Given the description of an element on the screen output the (x, y) to click on. 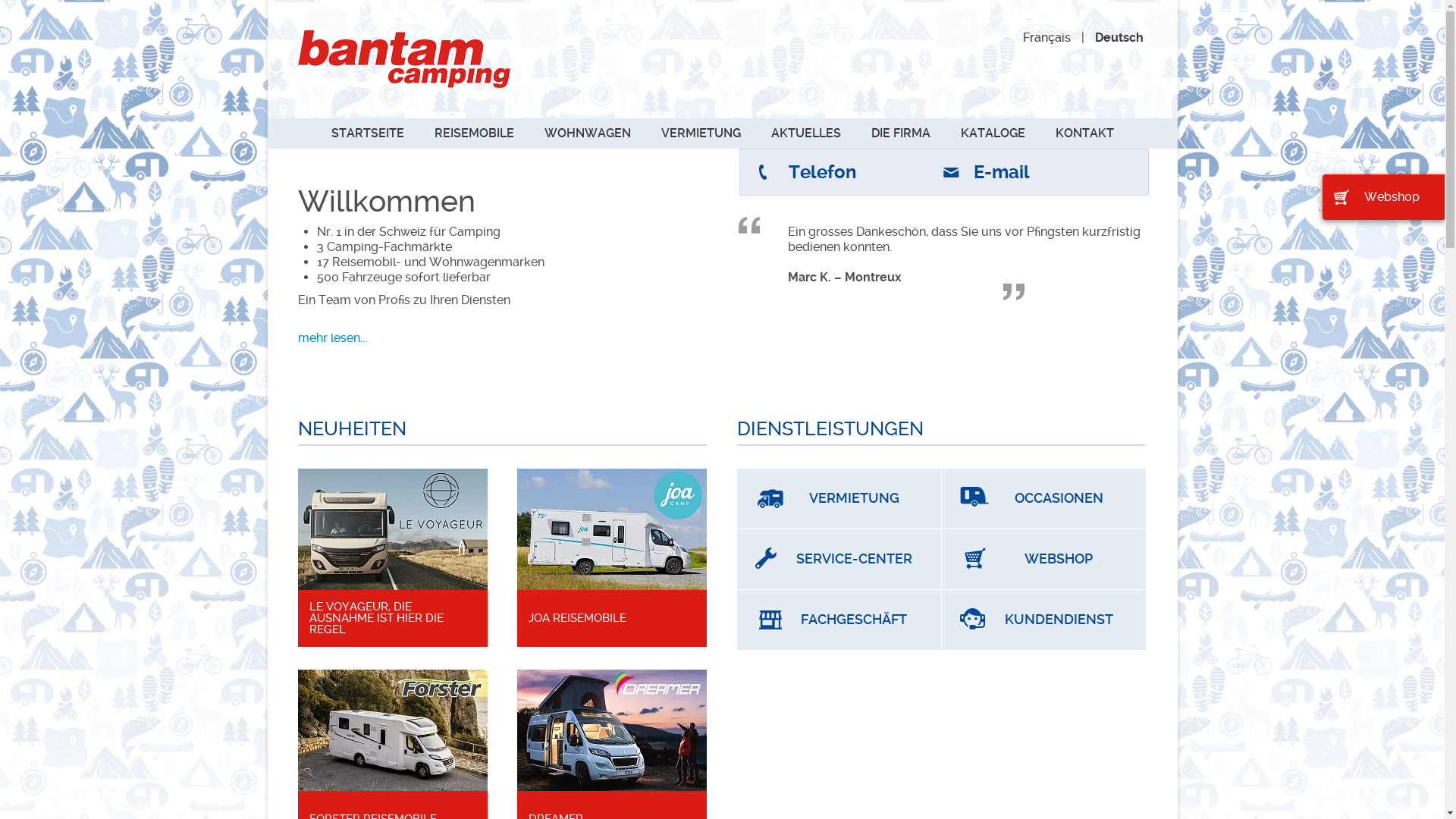
Artikel lesen Element type: hover (611, 527)
DIE FIRMA Element type: text (899, 133)
Artikel lesen Element type: hover (391, 728)
Webshop Element type: text (1383, 196)
WEBSHOP Element type: text (1043, 559)
KONTAKT Element type: text (1084, 133)
VERMIETUNG Element type: text (839, 498)
REISEMOBILE Element type: text (473, 133)
SERVICE-CENTER Element type: text (839, 559)
KUNDENDIENST Element type: text (1043, 619)
STARTSEITE Element type: text (366, 133)
OCCASIONEN Element type: text (1043, 498)
mehr lesen... Element type: text (331, 337)
Deutsch Element type: text (1119, 37)
AKTUELLES Element type: text (804, 133)
Telefon Element type: text (822, 171)
JOA REISEMOBILE Element type: text (610, 618)
KATALOGE Element type: text (992, 133)
Artikel lesen Element type: hover (611, 728)
E-mail Element type: text (1001, 171)
VERMIETUNG Element type: text (700, 133)
LE VOYAGEUR, DIE AUSNAHME IST HIER DIE REGEL Element type: text (392, 618)
WOHNWAGEN Element type: text (587, 133)
Artikel lesen Element type: hover (391, 527)
